Given the description of an element on the screen output the (x, y) to click on. 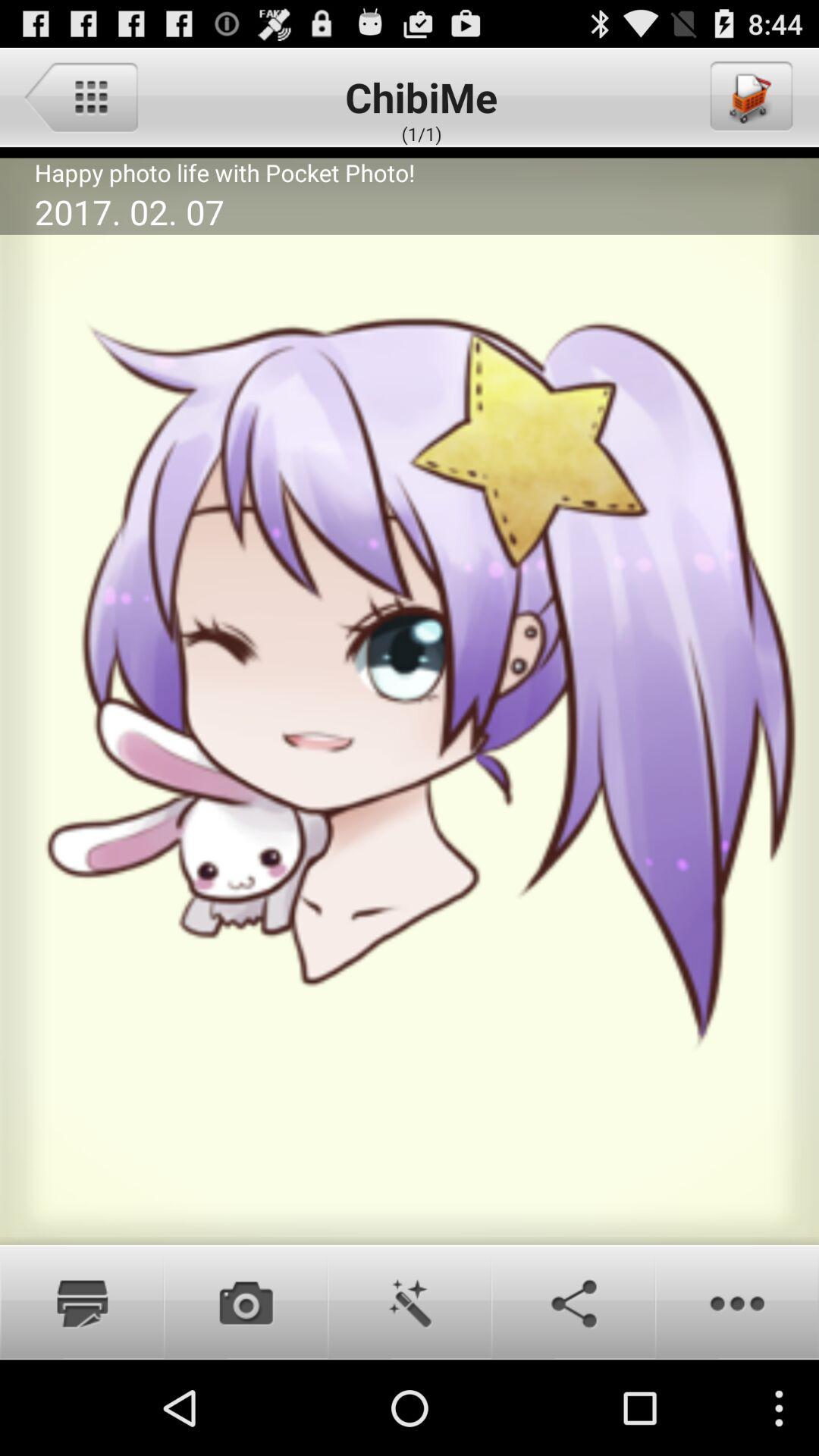
edit (409, 1301)
